Given the description of an element on the screen output the (x, y) to click on. 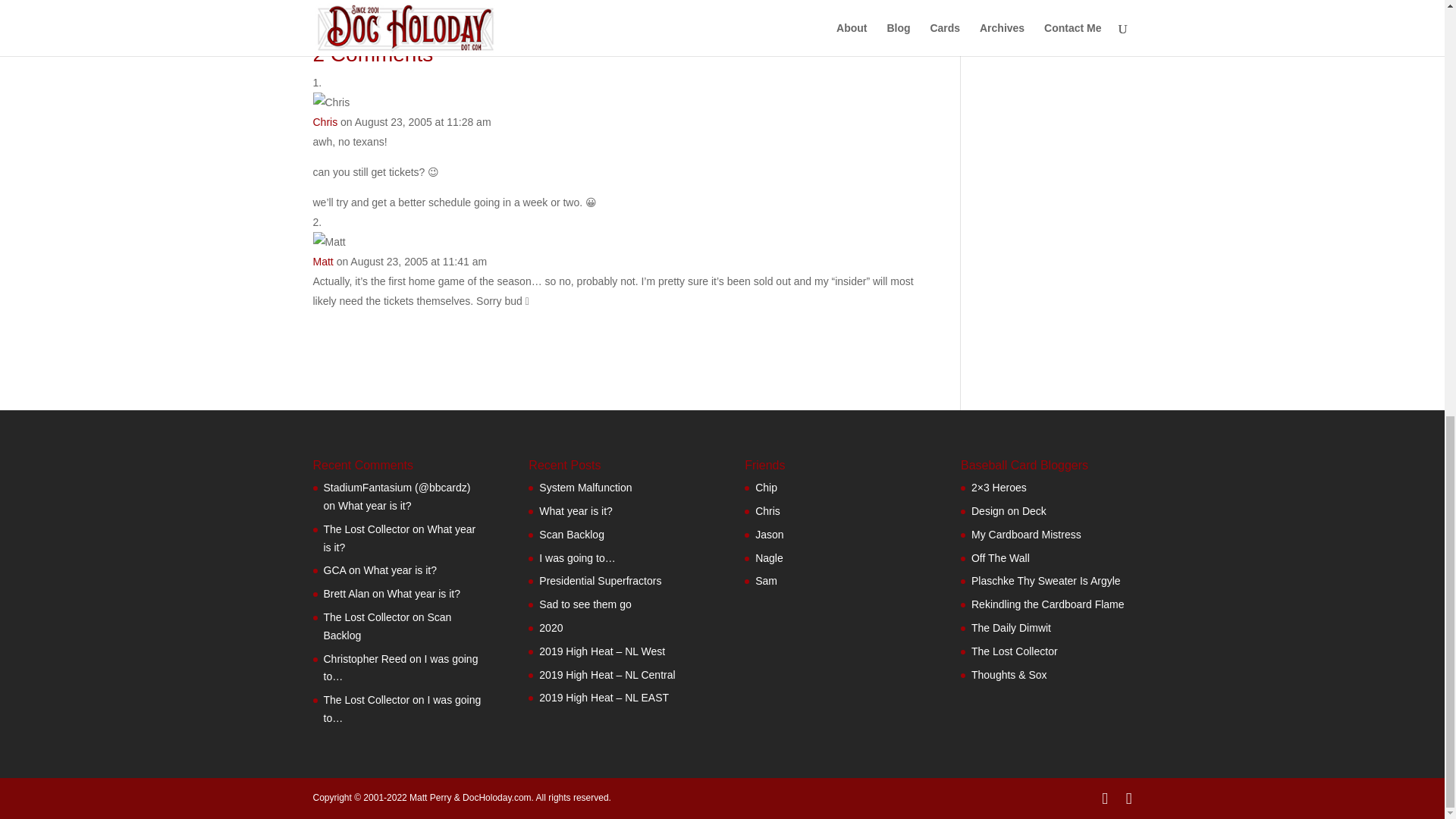
Chris (325, 121)
Matt (323, 261)
The Daily Dimwit (766, 580)
